Given the description of an element on the screen output the (x, y) to click on. 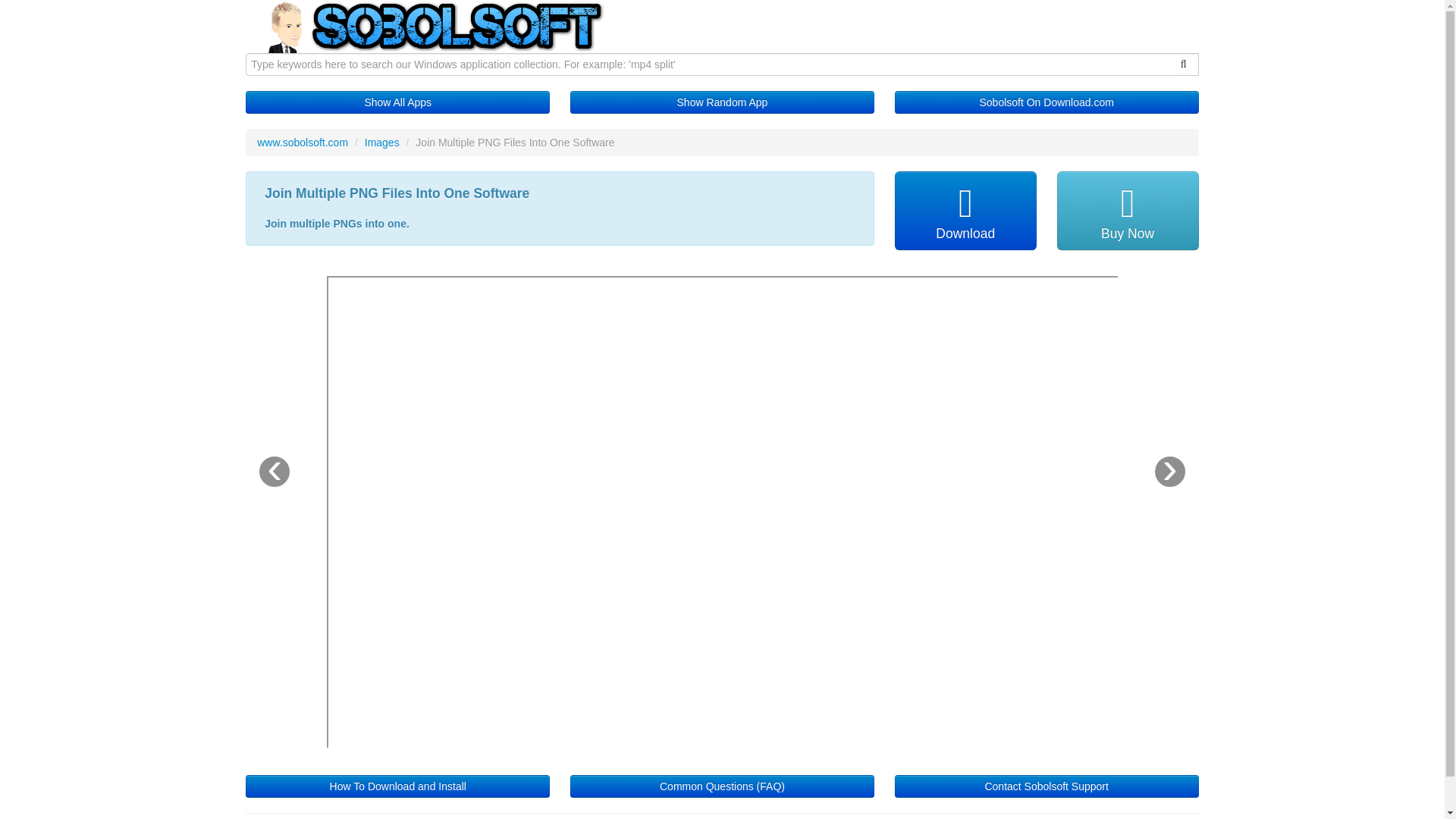
Images (381, 142)
Show Random App (722, 101)
Download (965, 210)
Buy Now (1127, 210)
How To Download and Install (398, 785)
www.sobolsoft.com (302, 142)
Contact Sobolsoft Support (1046, 785)
Sobolsoft On Download.com (1046, 101)
Show All Apps (398, 101)
